Given the description of an element on the screen output the (x, y) to click on. 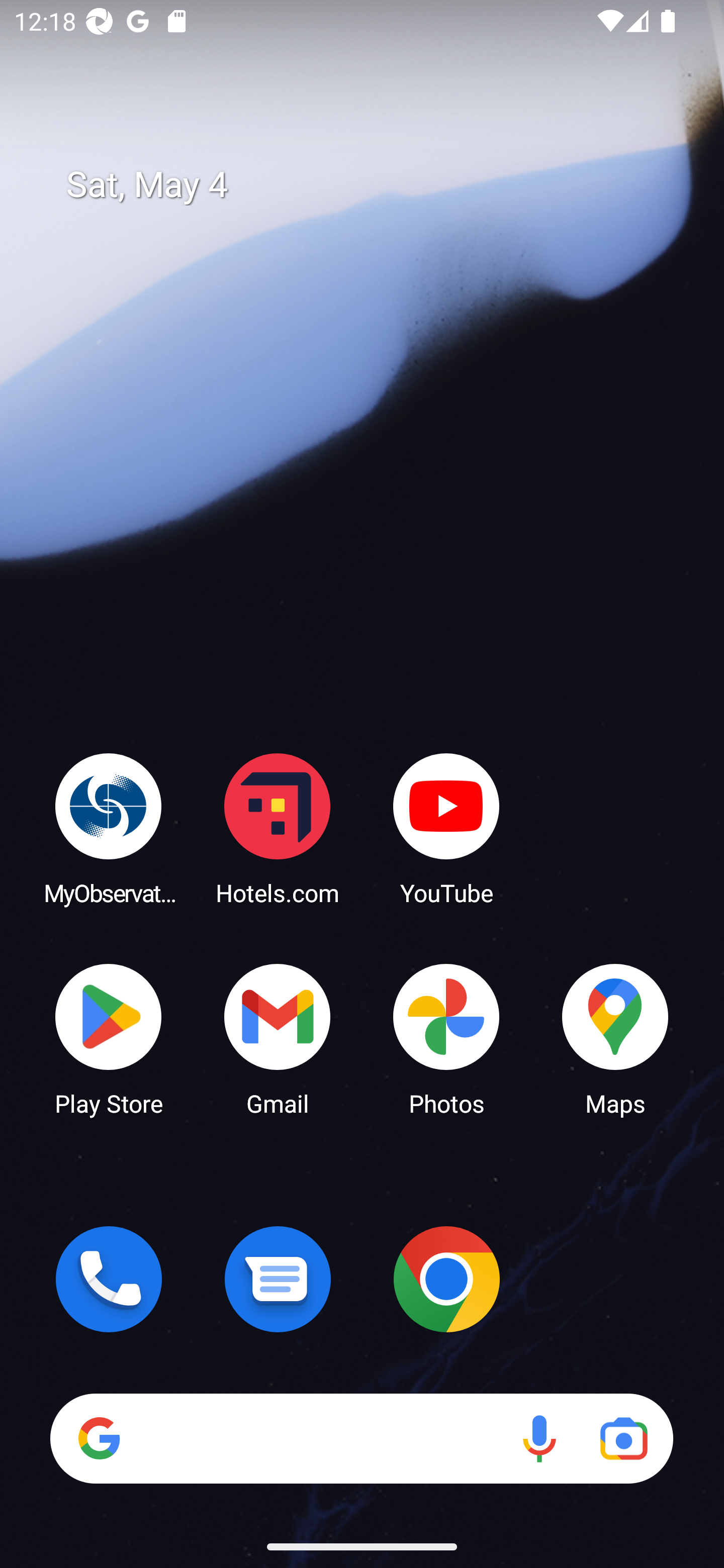
Sat, May 4 (375, 184)
MyObservatory (108, 828)
Hotels.com (277, 828)
YouTube (445, 828)
Play Store (108, 1038)
Gmail (277, 1038)
Photos (445, 1038)
Maps (615, 1038)
Phone (108, 1279)
Messages (277, 1279)
Chrome (446, 1279)
Search Voice search Google Lens (361, 1438)
Voice search (539, 1438)
Google Lens (623, 1438)
